Given the description of an element on the screen output the (x, y) to click on. 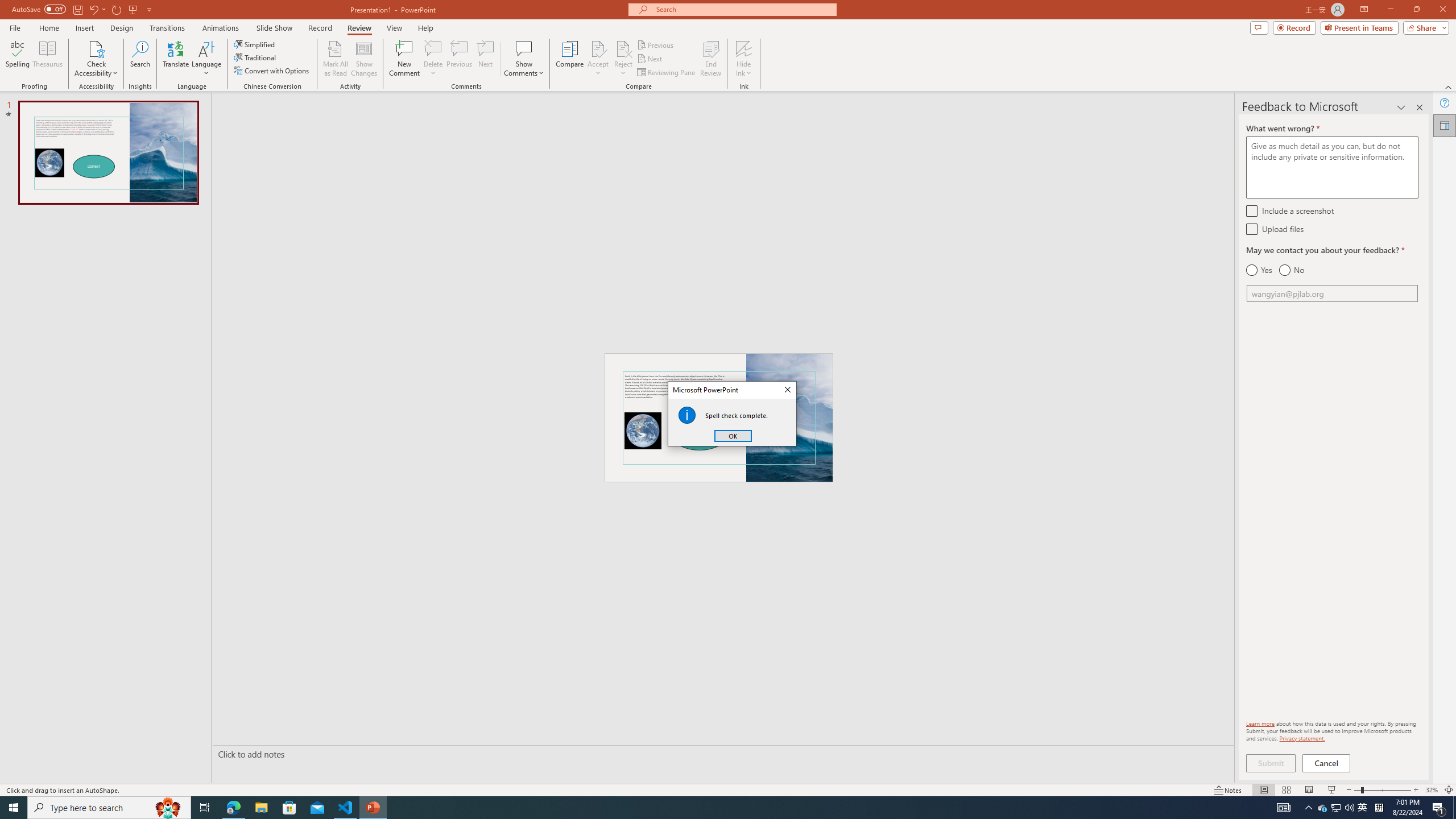
Accept (598, 58)
Zoom 32% (1431, 790)
Reject (622, 58)
Hide Ink (743, 48)
